Given the description of an element on the screen output the (x, y) to click on. 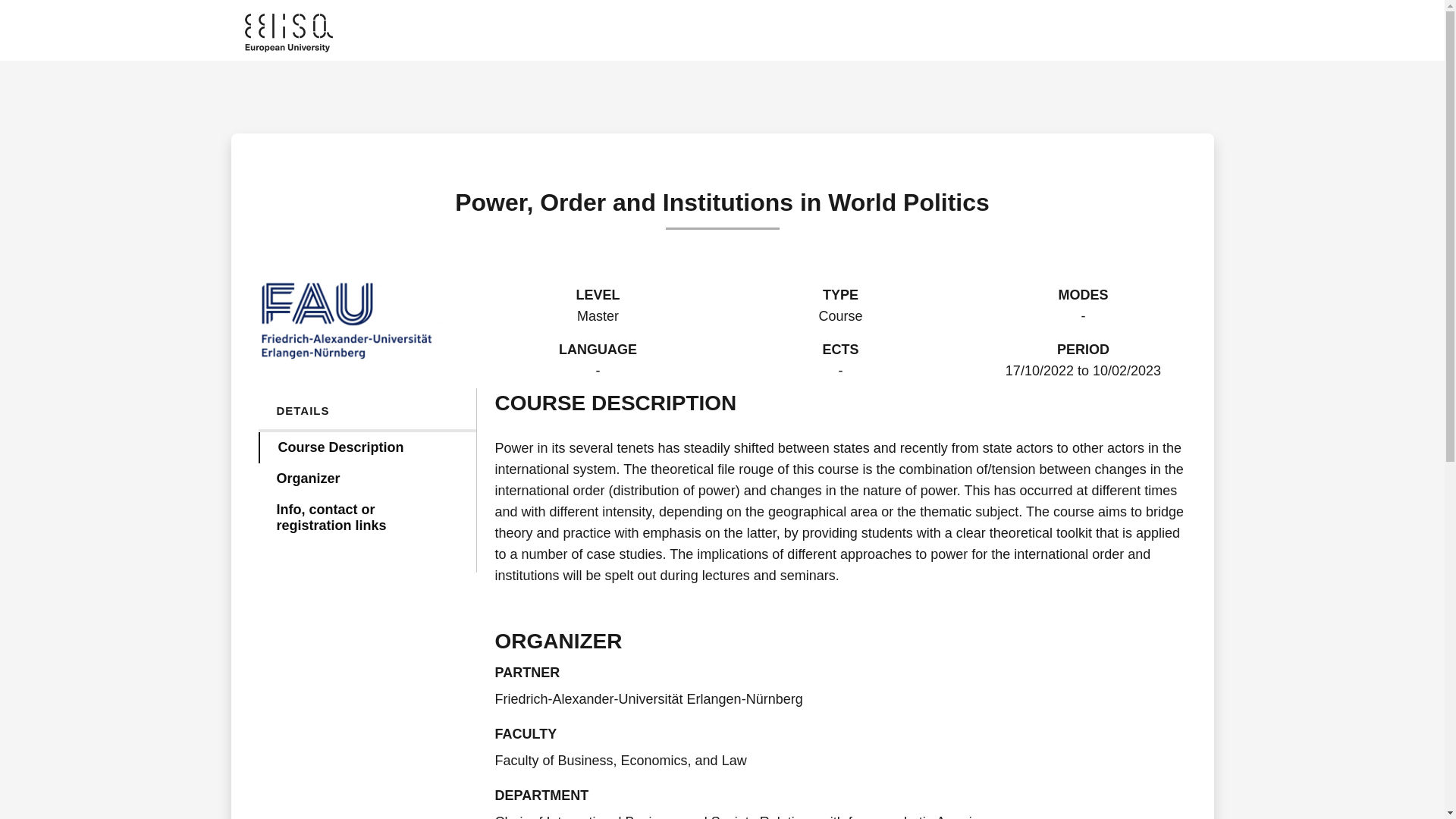
Organizer (366, 478)
Info, contact or registration links (366, 517)
Logo EELISA (287, 32)
Course Description  (366, 447)
